Given the description of an element on the screen output the (x, y) to click on. 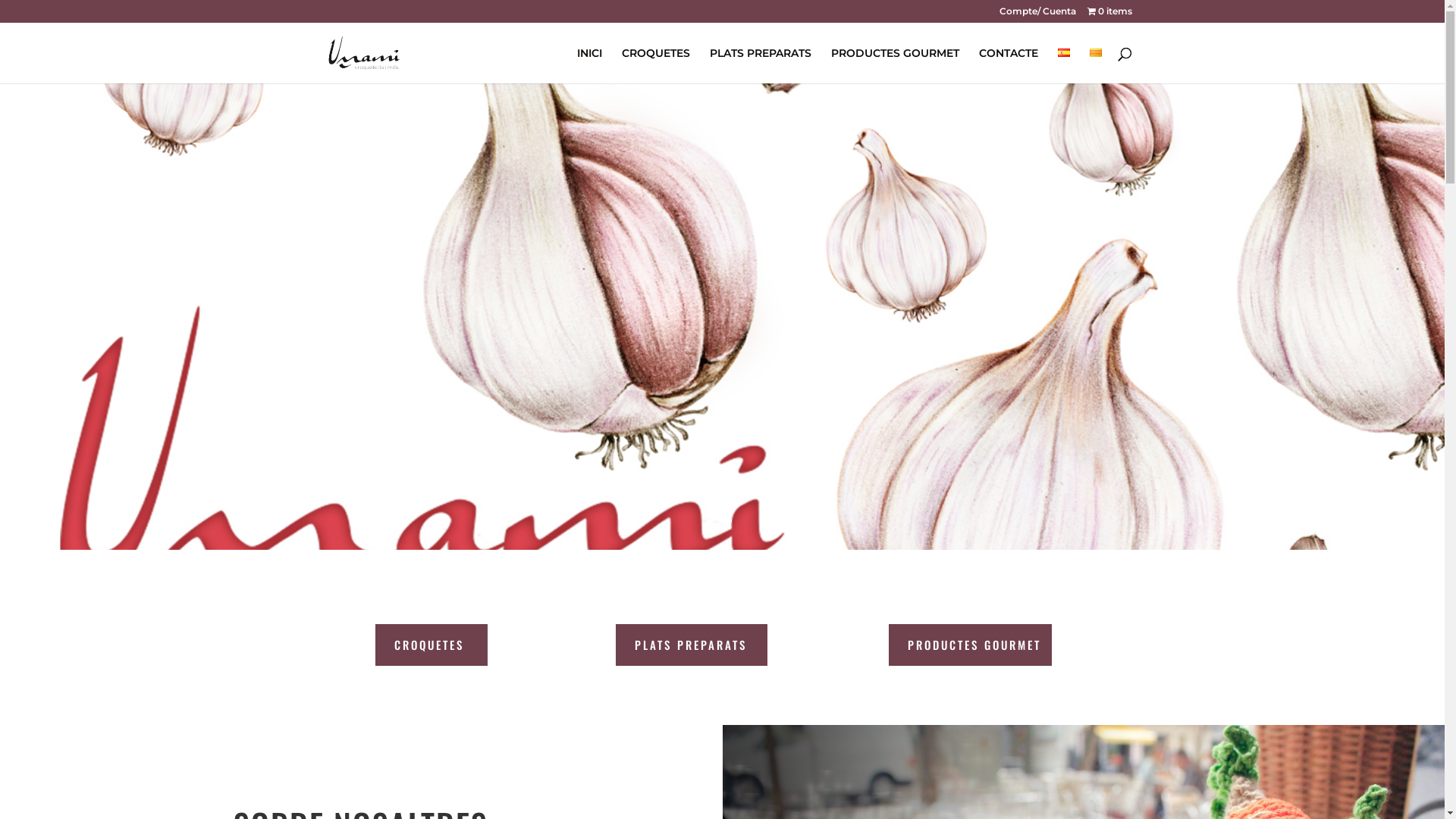
1 Element type: text (715, 520)
CROQUETES Element type: text (655, 65)
CONTACTE Element type: text (1007, 65)
PRODUCTES GOURMET Element type: text (895, 65)
PLATS PREPARATS Element type: text (691, 644)
0 items Element type: text (1109, 14)
PLATS PREPARATS Element type: text (760, 65)
2 Element type: text (728, 520)
CROQUETES Element type: text (430, 644)
Compte/ Cuenta Element type: text (1037, 14)
PRODUCTES GOURMET Element type: text (969, 644)
INICI Element type: text (588, 65)
